Given the description of an element on the screen output the (x, y) to click on. 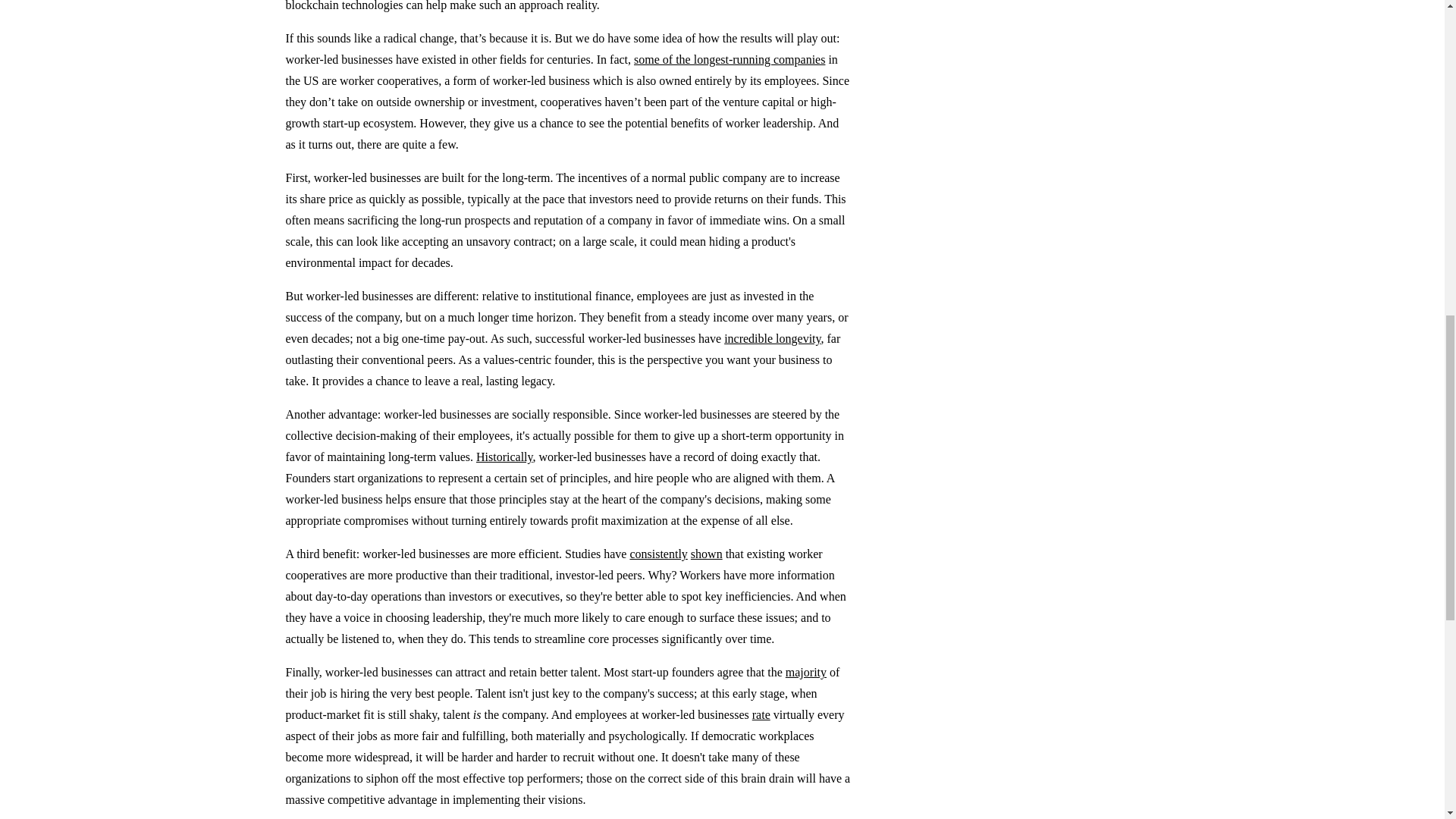
shown (706, 553)
Historically (504, 456)
some of the longest-running companies (729, 59)
majority (806, 671)
incredible longevity (772, 338)
consistently (657, 553)
rate (761, 714)
